Given the description of an element on the screen output the (x, y) to click on. 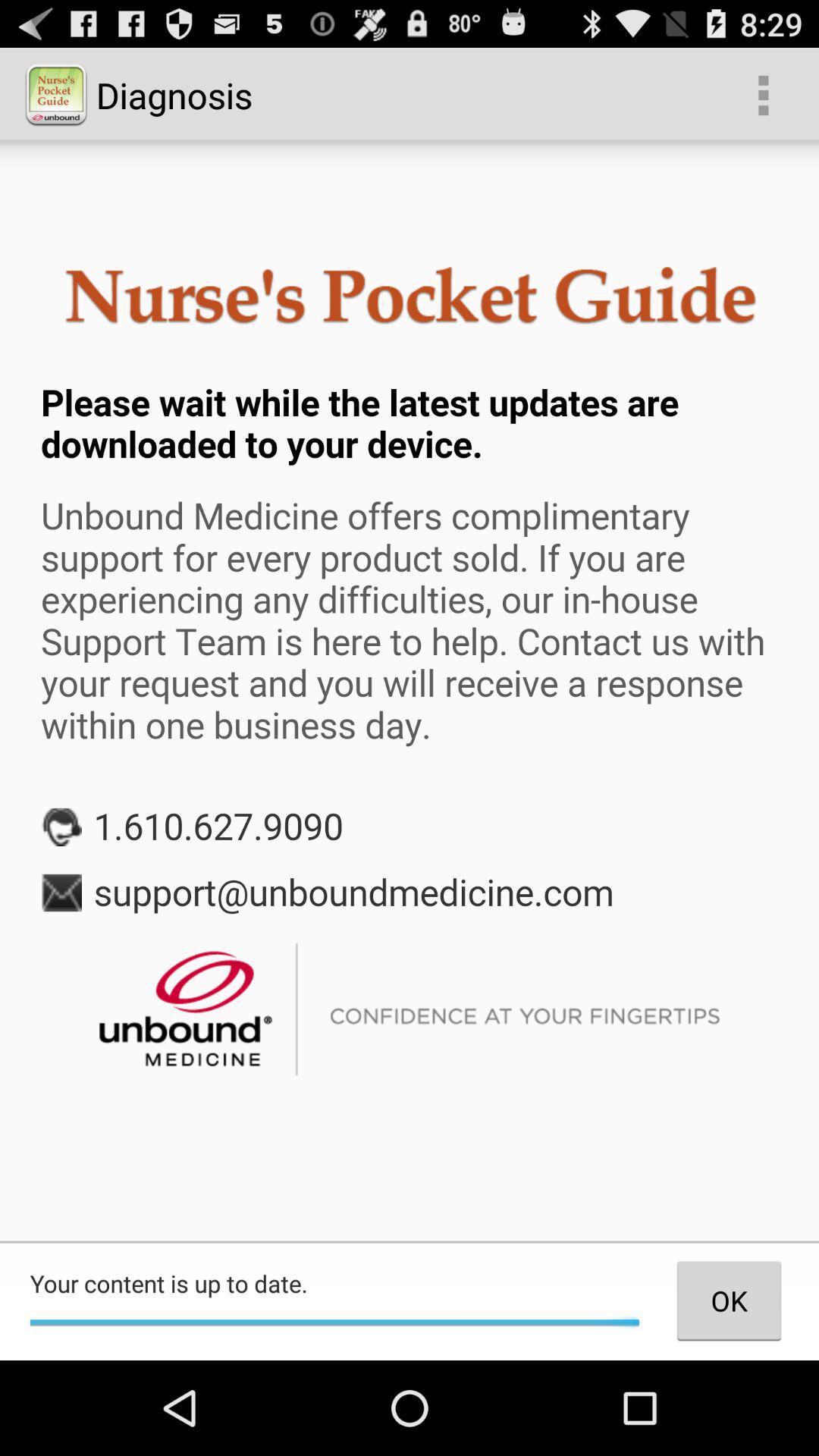
seen the paragraph (409, 692)
